Given the description of an element on the screen output the (x, y) to click on. 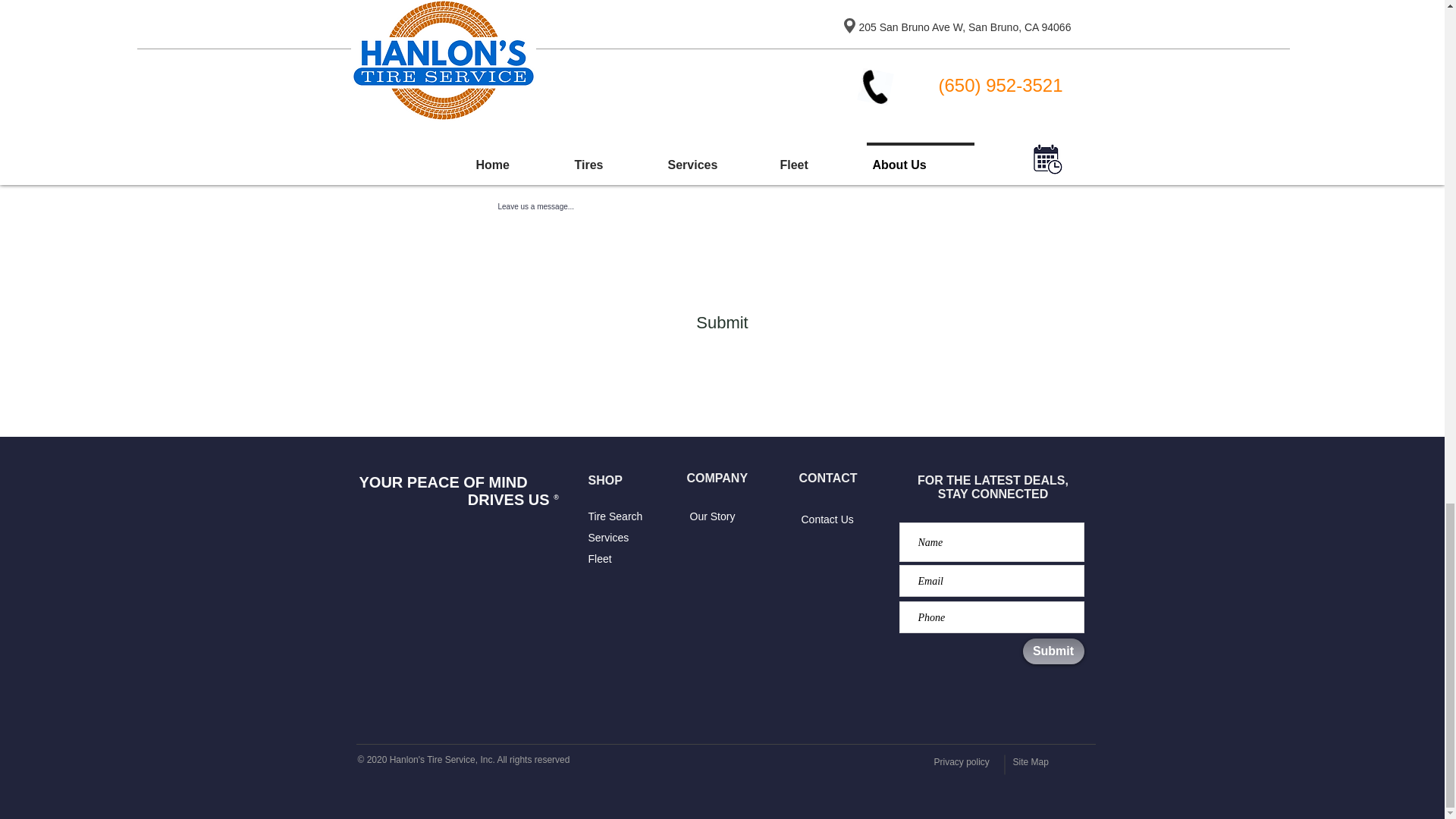
Contact Us (826, 519)
Submit (1052, 651)
Privacy policy (962, 761)
CONTACT (828, 477)
Our Story (712, 516)
Submit (722, 323)
COMPANY (717, 477)
Services (608, 537)
Fleet (599, 558)
SHOP (605, 480)
